Given the description of an element on the screen output the (x, y) to click on. 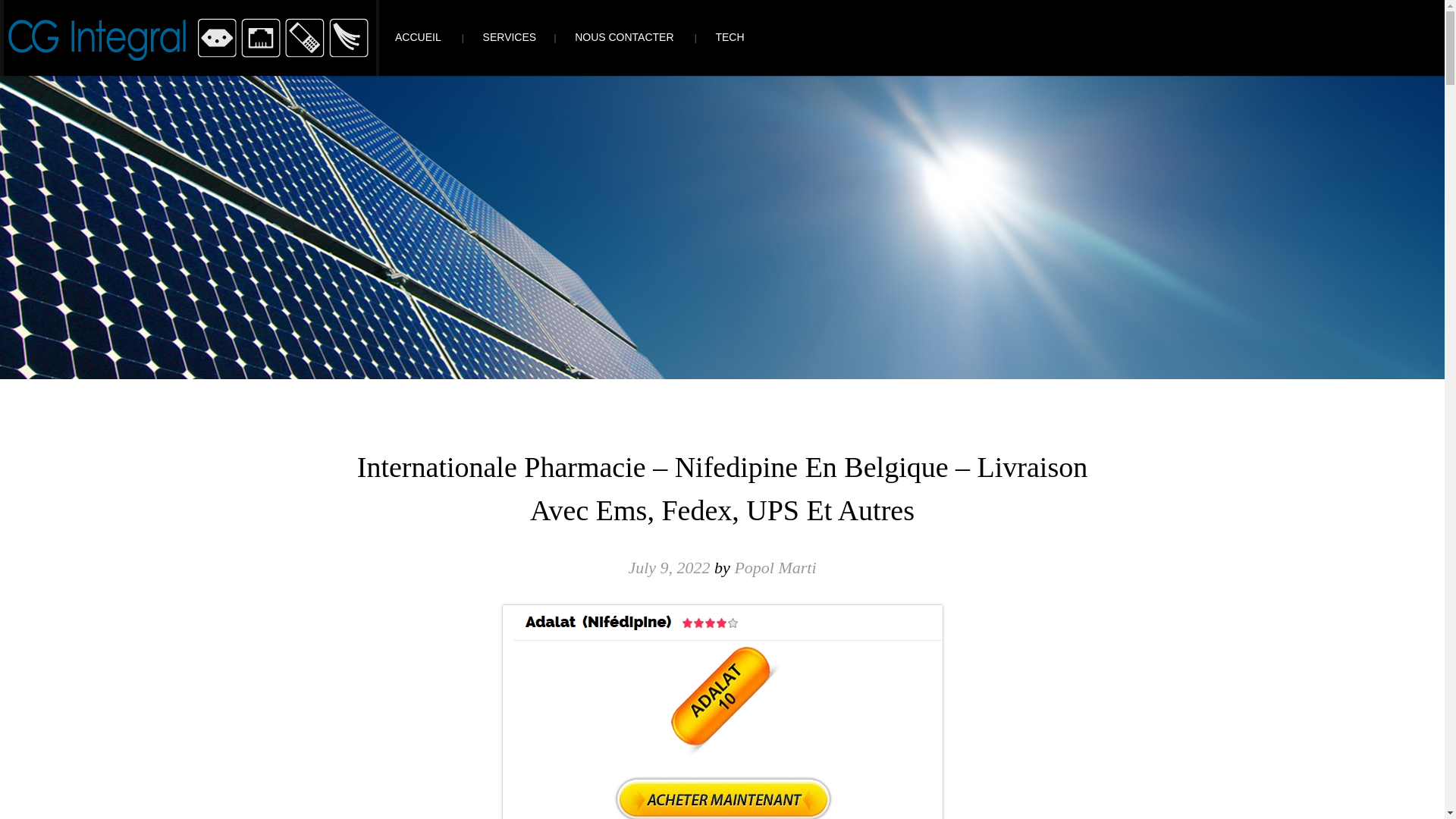
NOUS CONTACTER Element type: text (617, 36)
SKIP TO CONLANDSCAPET Element type: text (69, 7)
TECH Element type: text (723, 36)
ACCUEIL Element type: text (412, 36)
Search Element type: text (38, 12)
Popol Marti Element type: text (774, 567)
July 9, 2022 Element type: text (668, 567)
SERVICES Element type: text (504, 36)
